Given the description of an element on the screen output the (x, y) to click on. 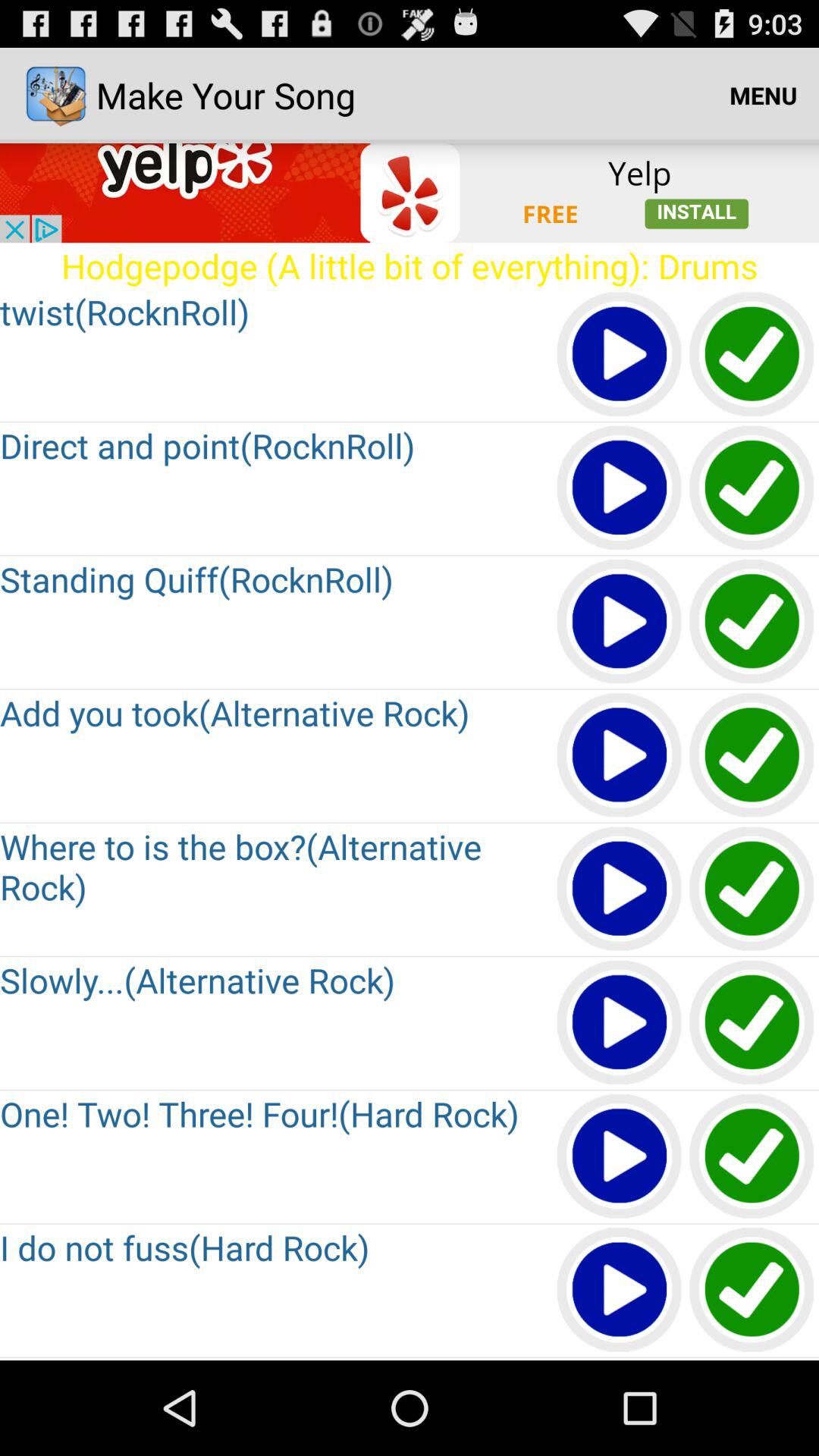
next (619, 1359)
